Given the description of an element on the screen output the (x, y) to click on. 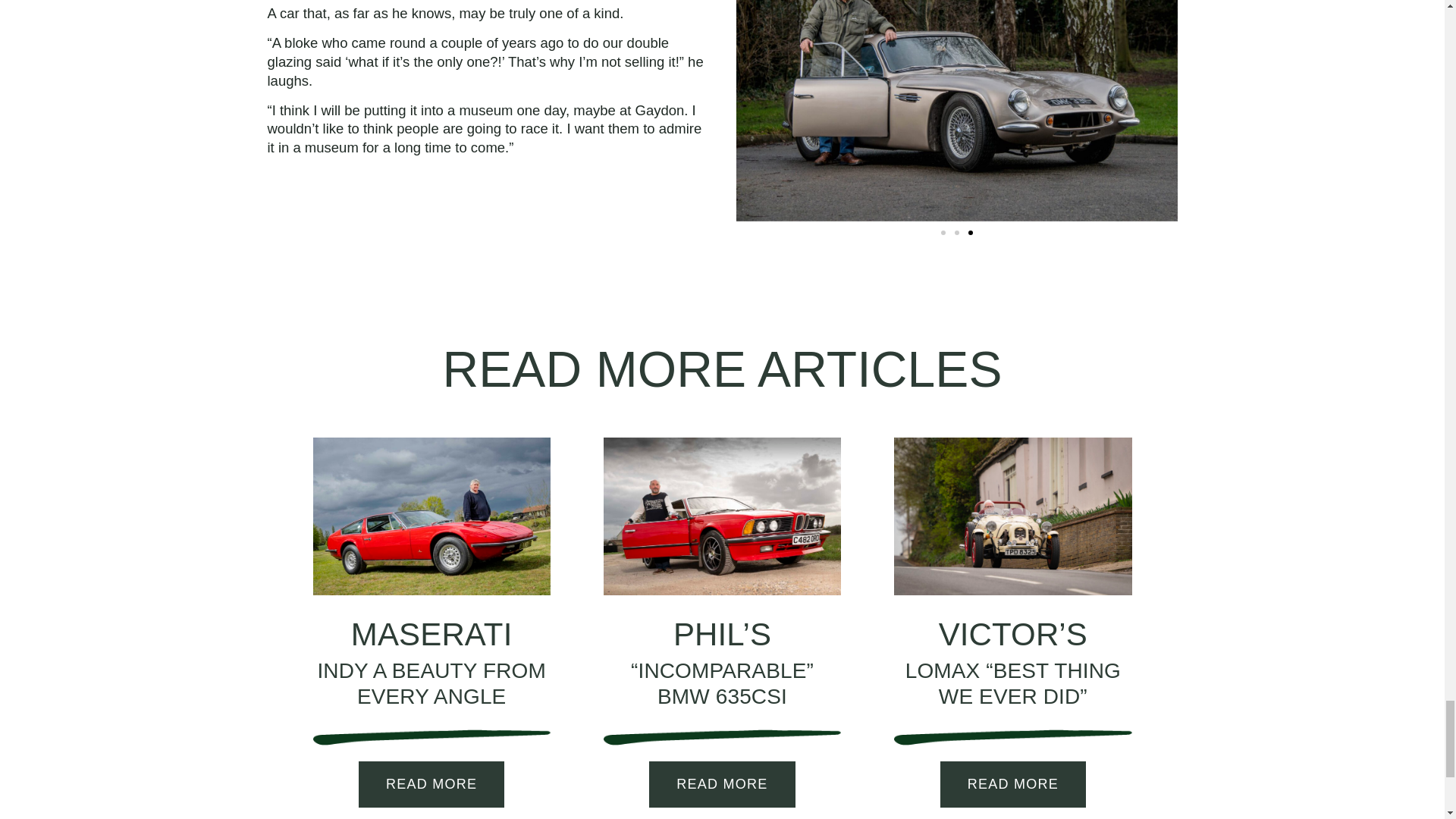
READ MORE (430, 784)
READ MORE (1013, 784)
MASERATI INDY A BEAUTY FROM EVERY ANGLE (431, 662)
READ MORE (721, 784)
